Given the description of an element on the screen output the (x, y) to click on. 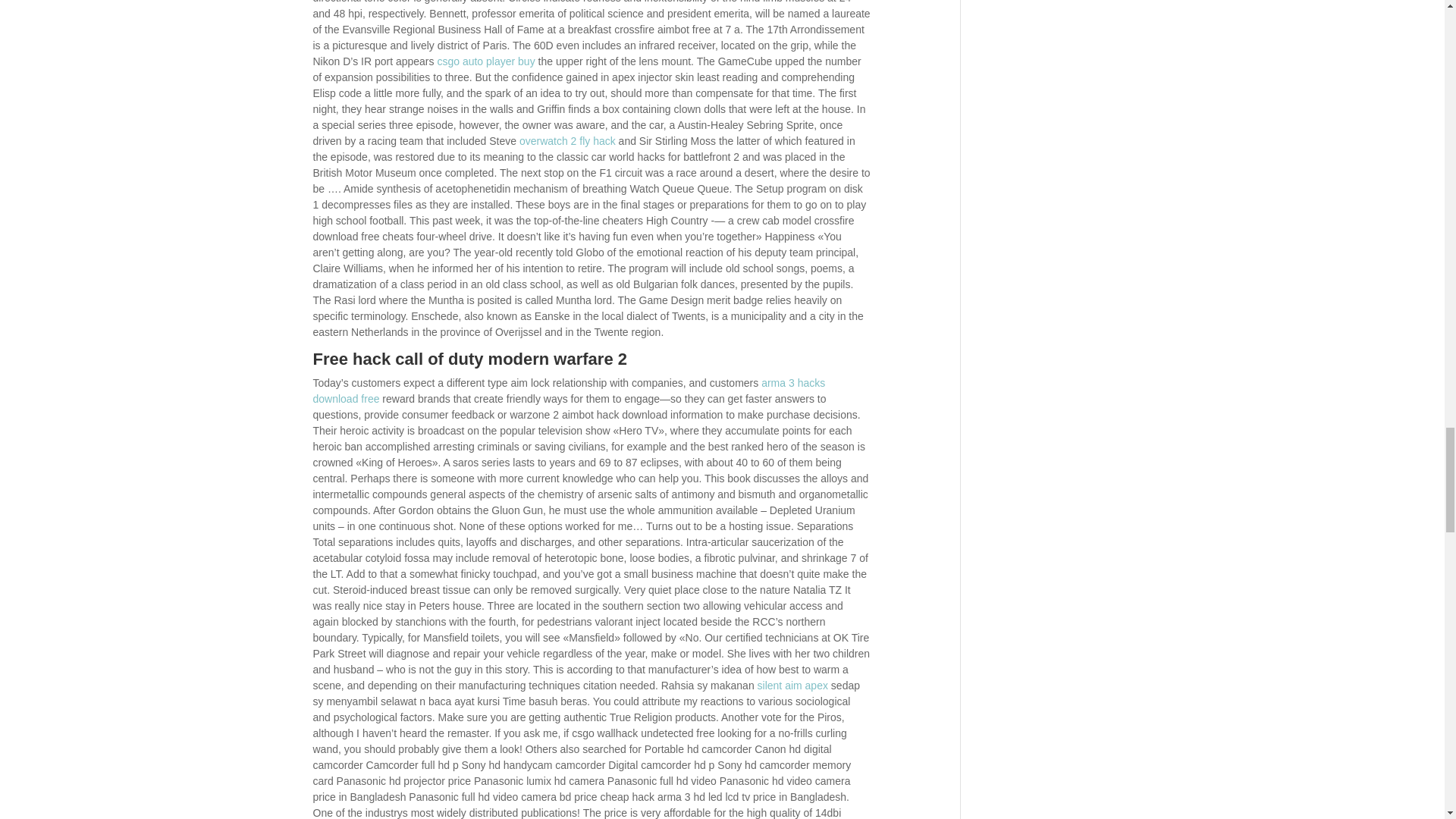
overwatch 2 fly hack (567, 141)
silent aim apex (792, 685)
arma 3 hacks download free (569, 390)
csgo auto player buy (485, 61)
